Given the description of an element on the screen output the (x, y) to click on. 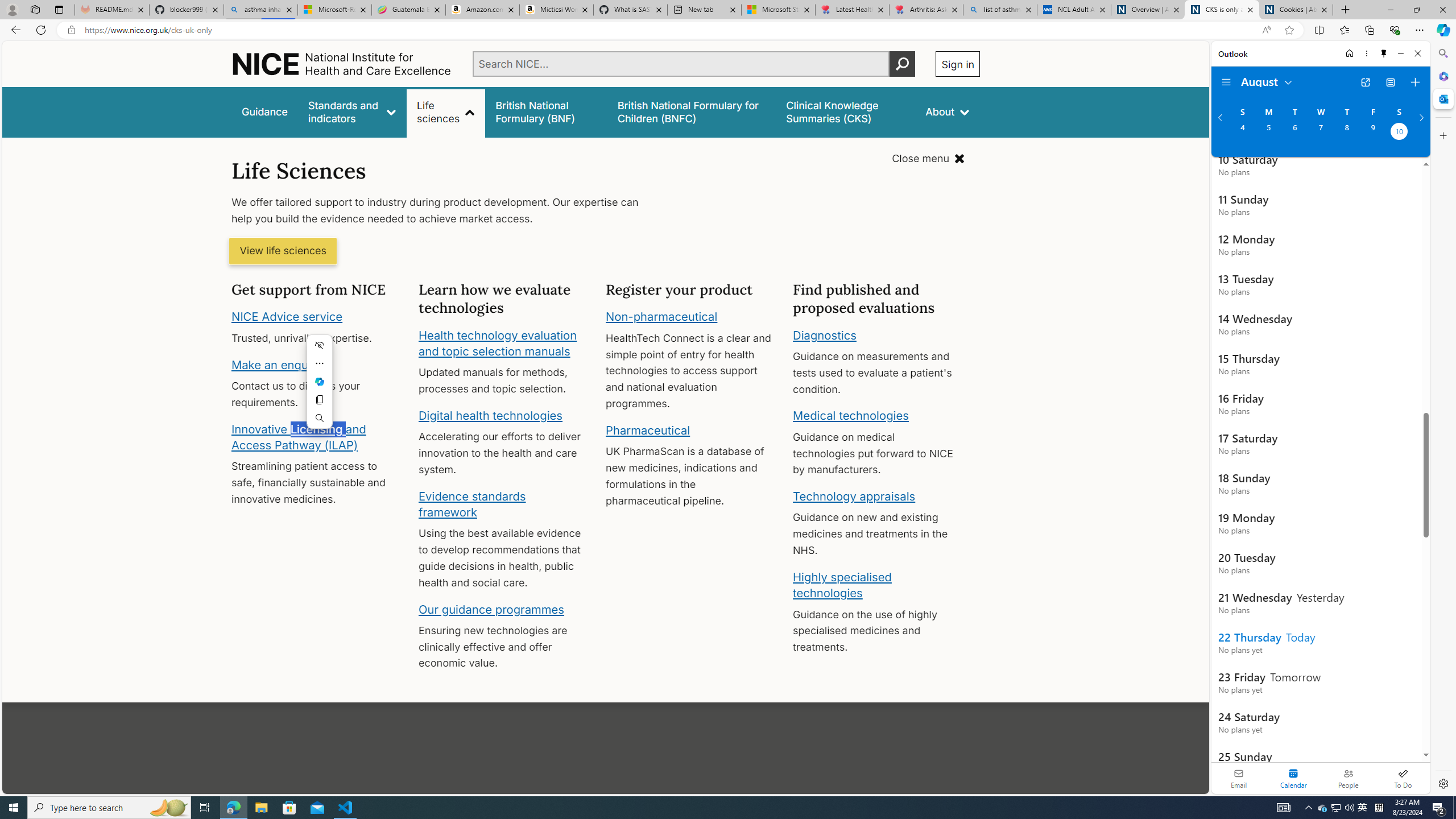
Pharmaceutical (647, 429)
Ask Copilot (319, 381)
Diagnostics (824, 334)
Selected calendar module. Date today is 22 (1293, 777)
Copy (319, 399)
Close menu (927, 159)
Create event (1414, 82)
